Given the description of an element on the screen output the (x, y) to click on. 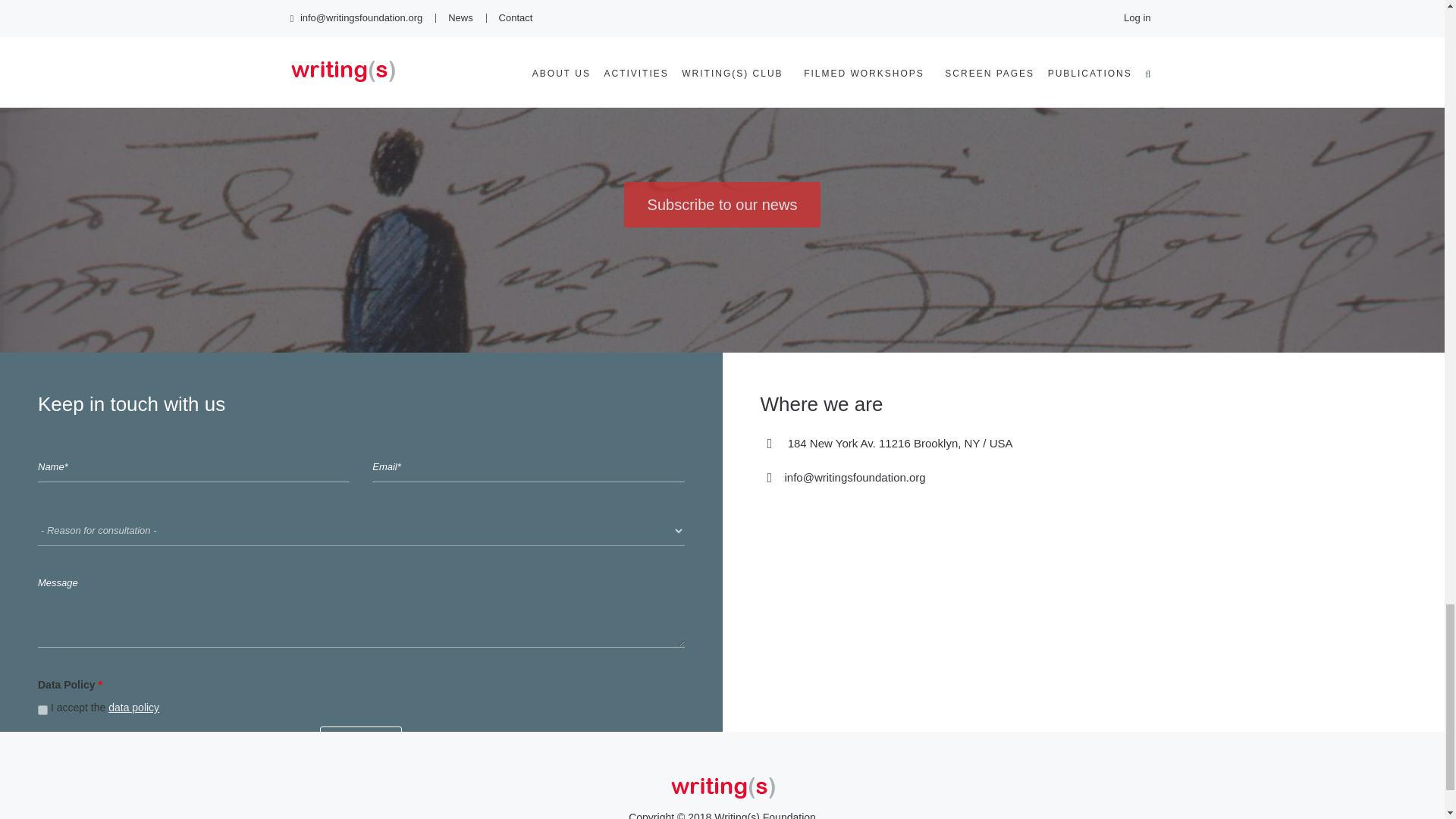
Subscribe to our news (722, 204)
accept (42, 709)
Send now (360, 741)
Send now (360, 741)
data policy (132, 707)
